Given the description of an element on the screen output the (x, y) to click on. 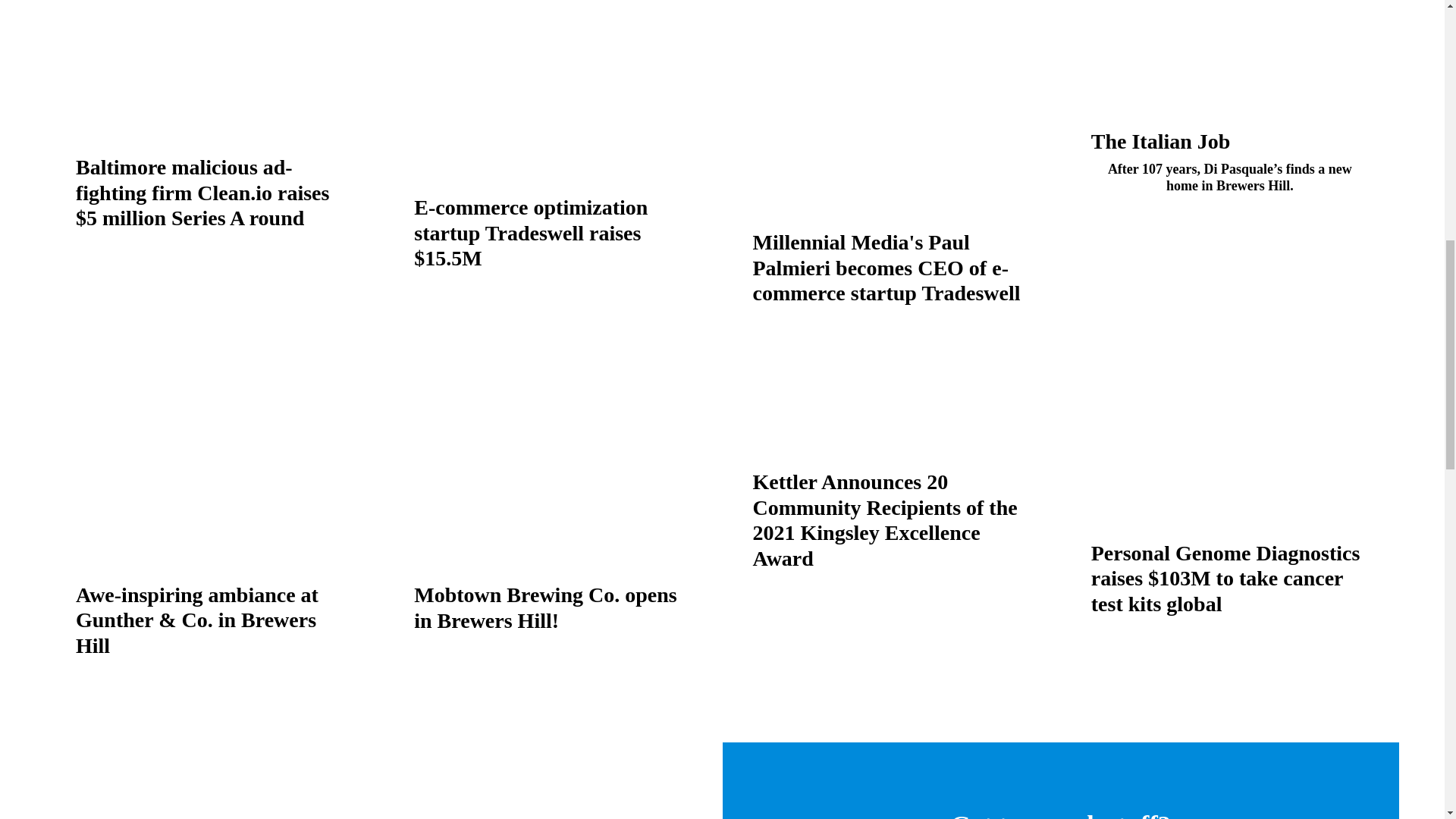
Mobtown Brewing Co. opens in Brewers Hill! (545, 607)
The Italian Job (1160, 141)
